Given the description of an element on the screen output the (x, y) to click on. 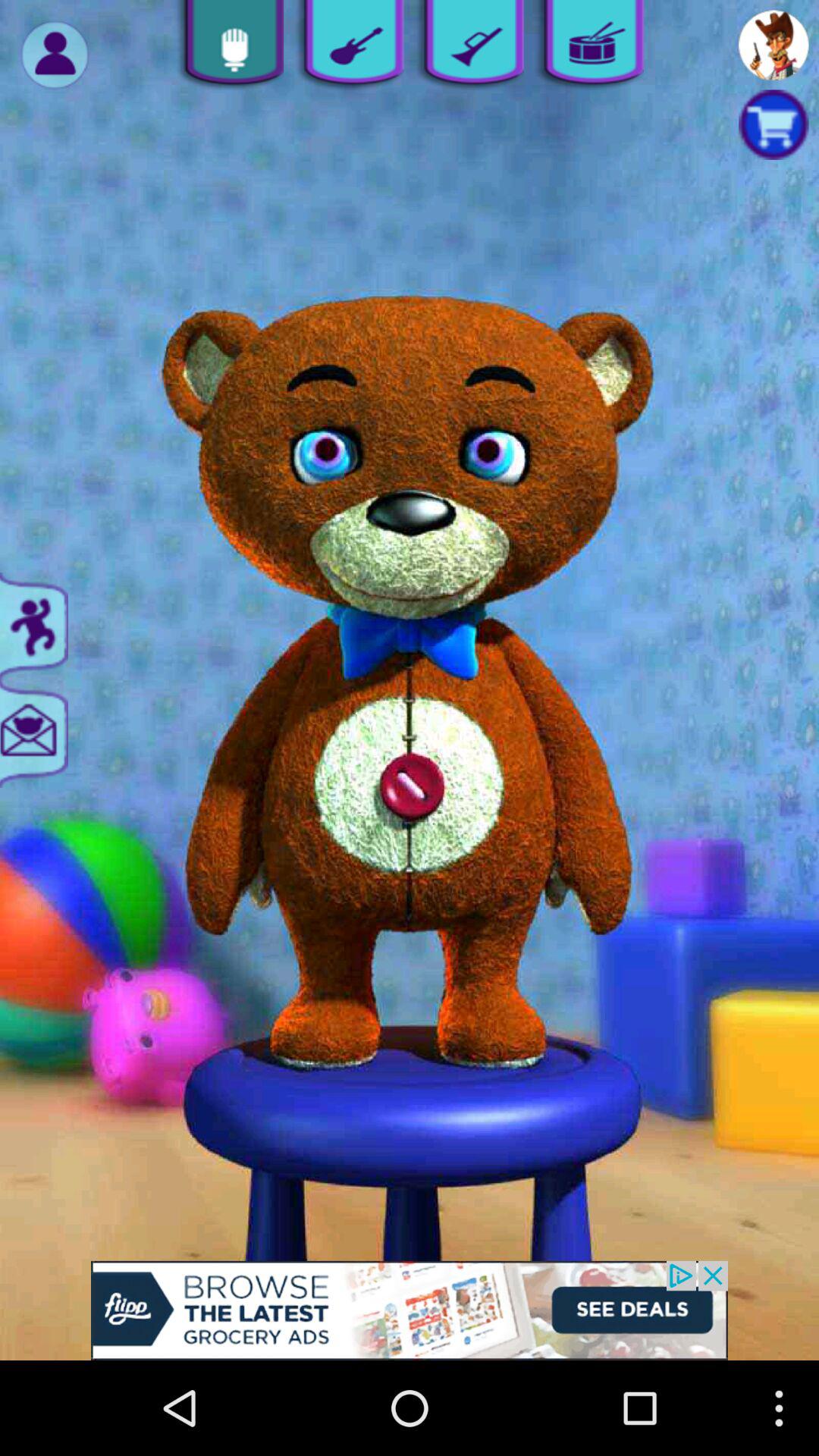
launch the icon at the bottom (409, 1310)
